Given the description of an element on the screen output the (x, y) to click on. 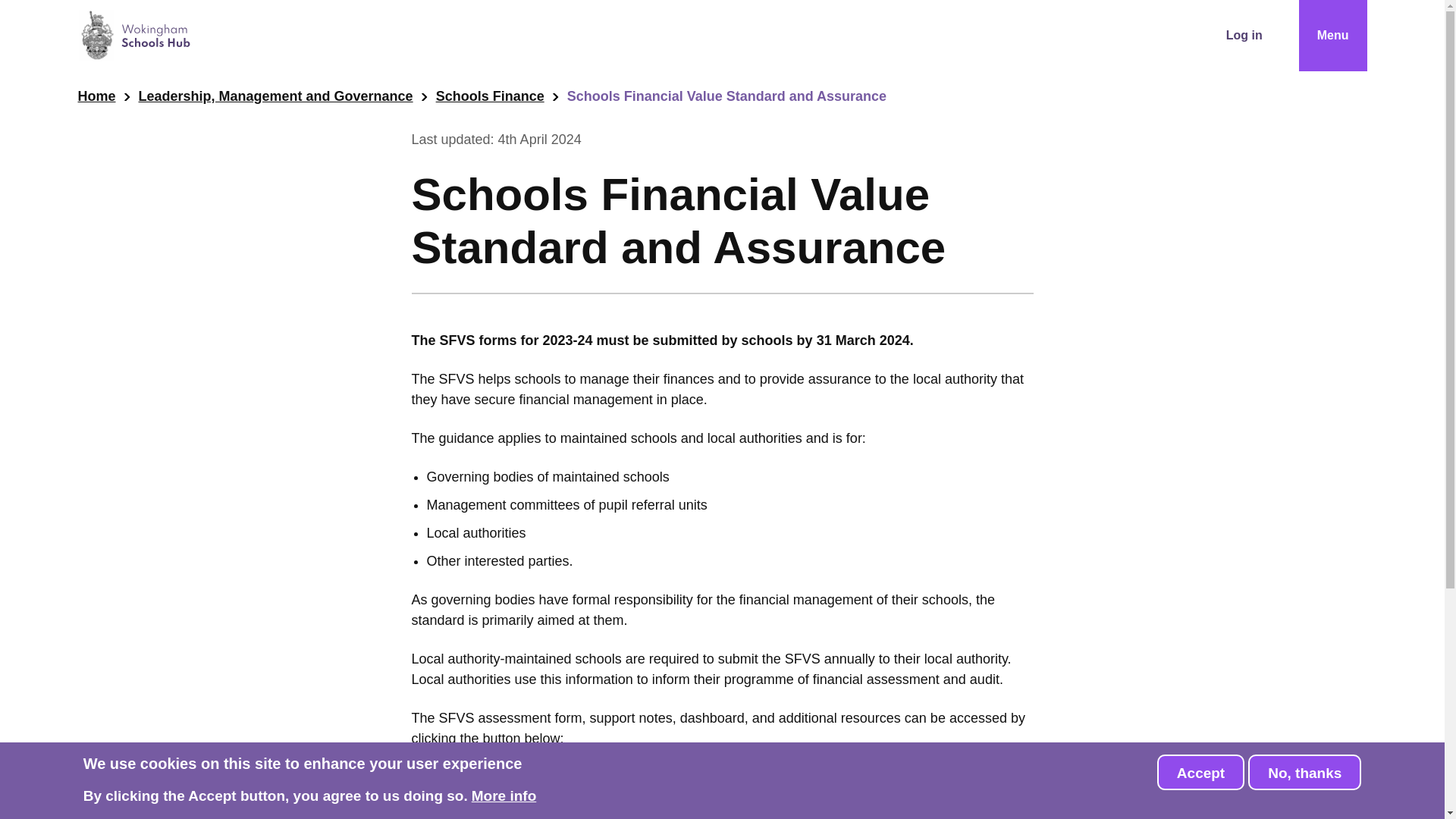
Schools Finance (489, 96)
Government information on SFVS (545, 785)
Menu (1332, 35)
Home (96, 96)
Log in (1244, 35)
Leadership, Management and Governance (275, 96)
